Given the description of an element on the screen output the (x, y) to click on. 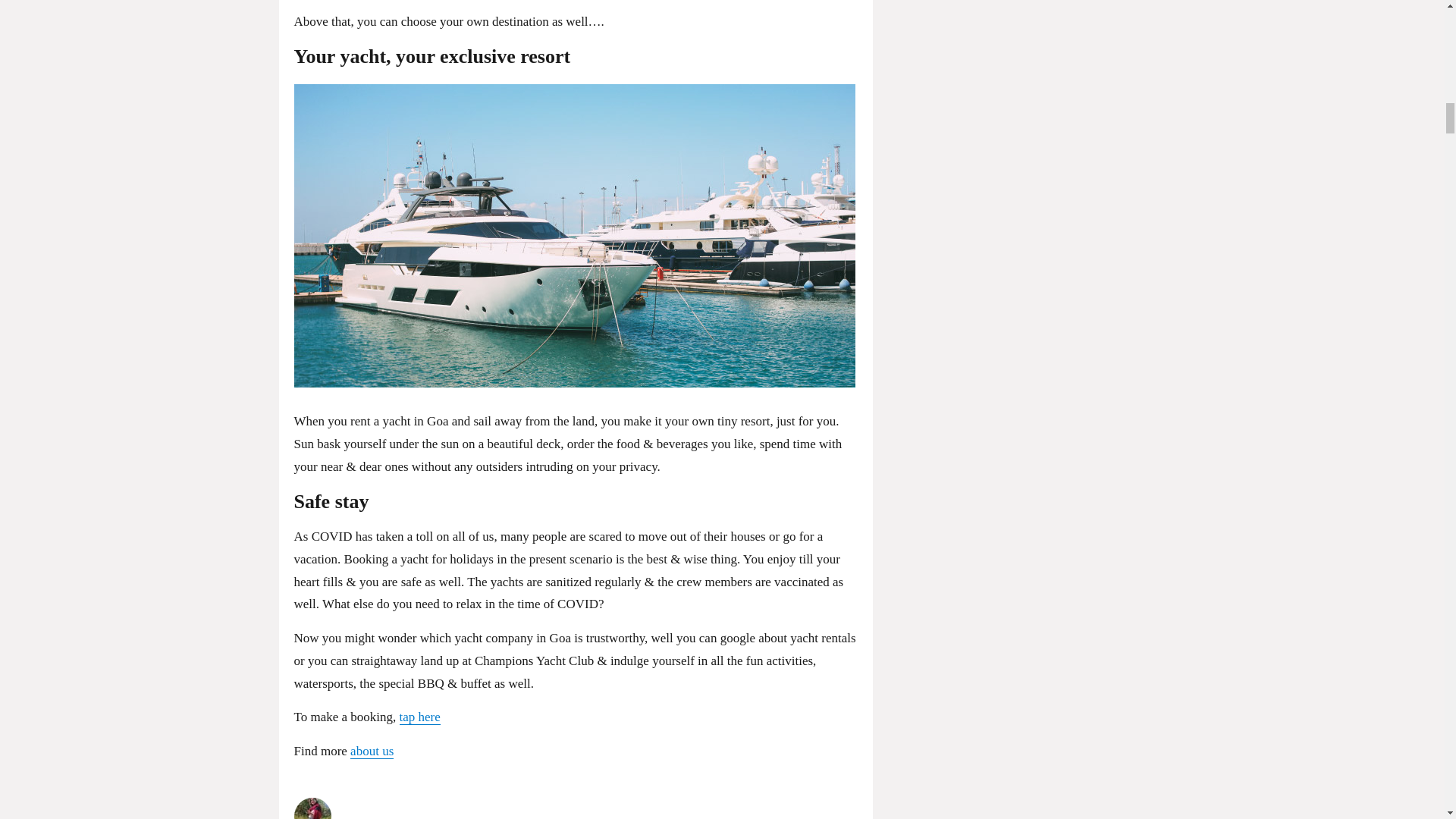
tap here (419, 716)
about us (371, 750)
